Given the description of an element on the screen output the (x, y) to click on. 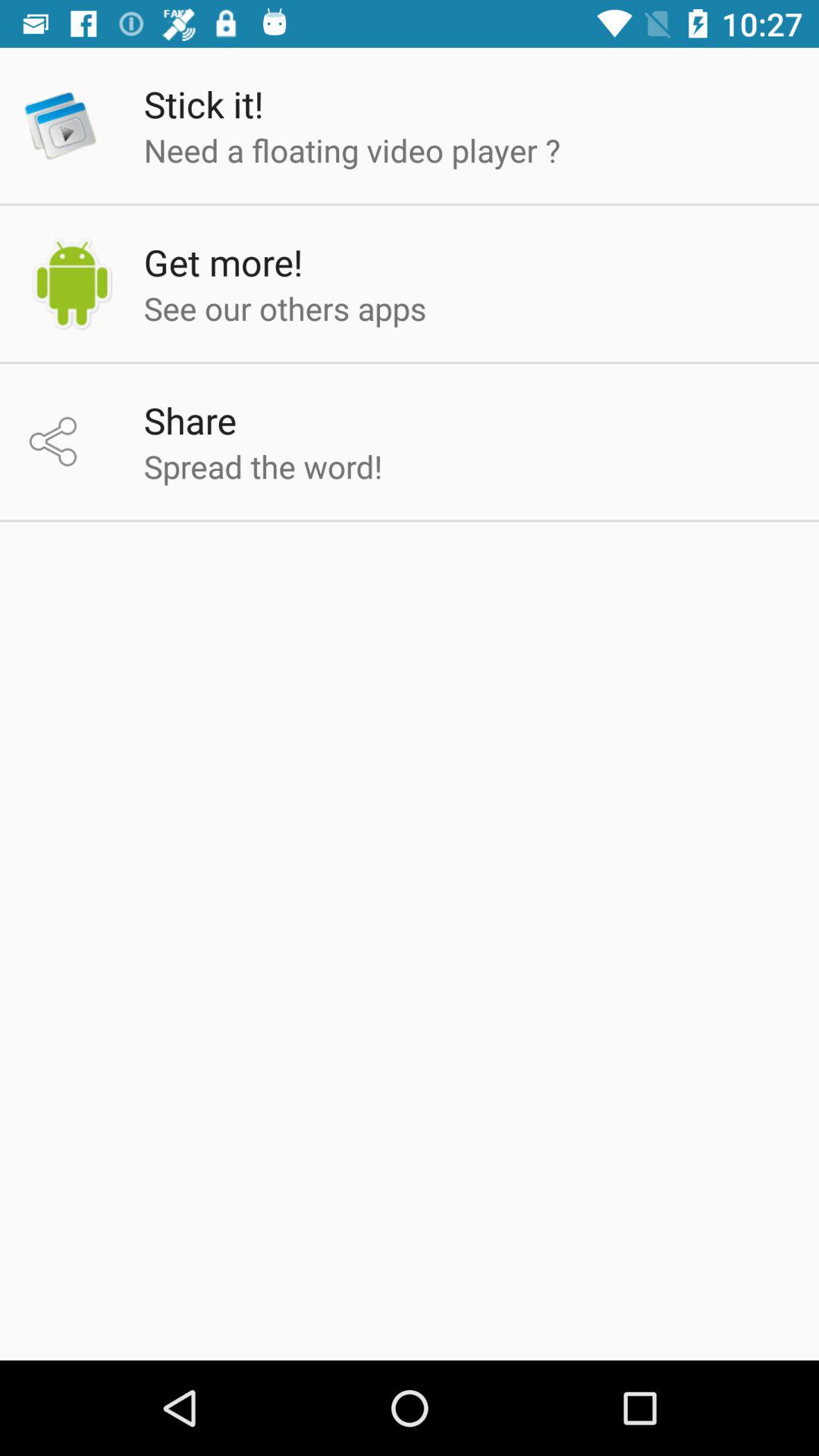
click app below the share (262, 465)
